Given the description of an element on the screen output the (x, y) to click on. 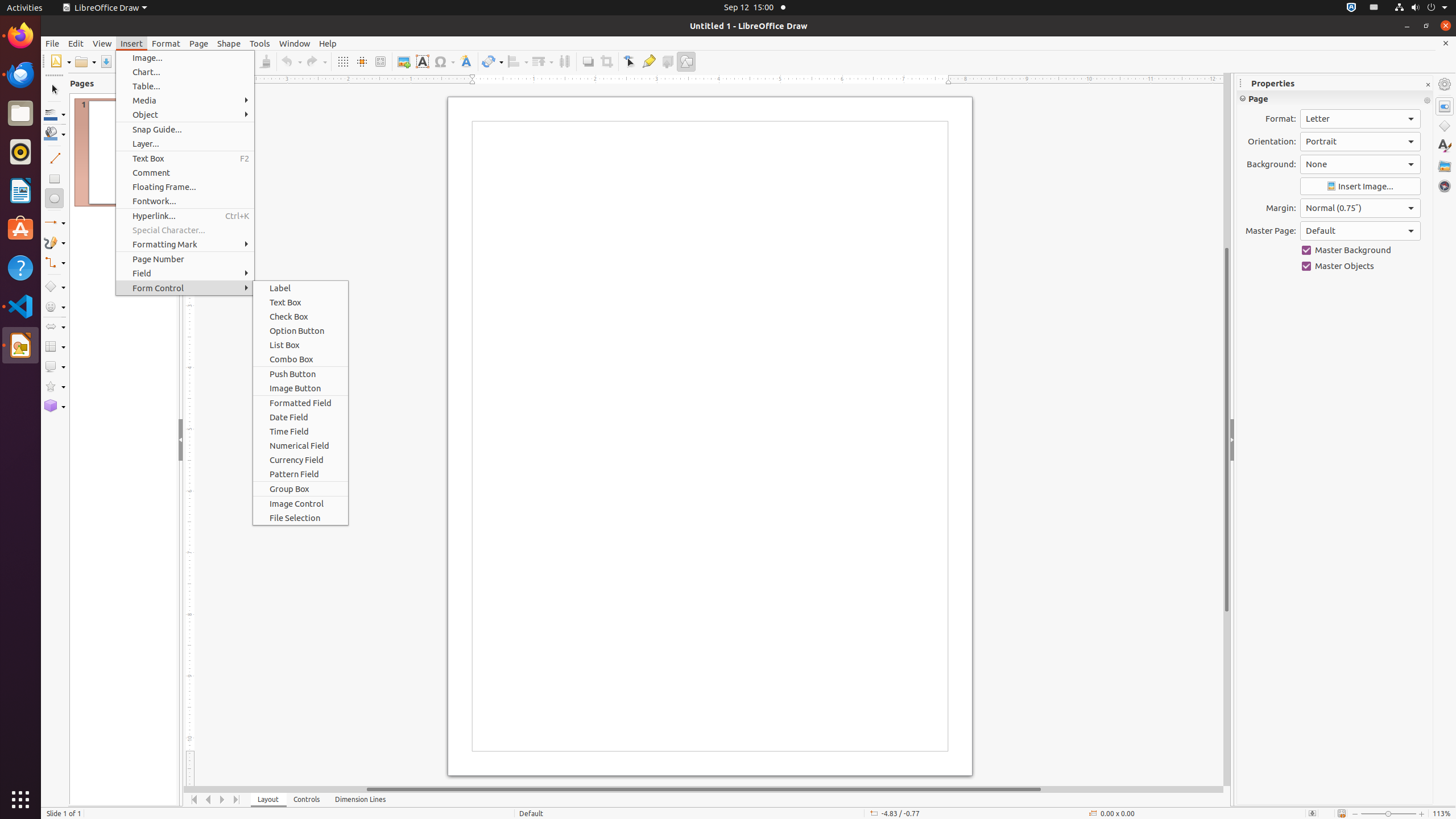
Formatted Field Element type: check-menu-item (300, 402)
Draw Functions Element type: toggle-button (685, 61)
Align Element type: push-button (517, 61)
Shadow Element type: toggle-button (587, 61)
:1.21/StatusNotifierItem Element type: menu (1373, 7)
